Given the description of an element on the screen output the (x, y) to click on. 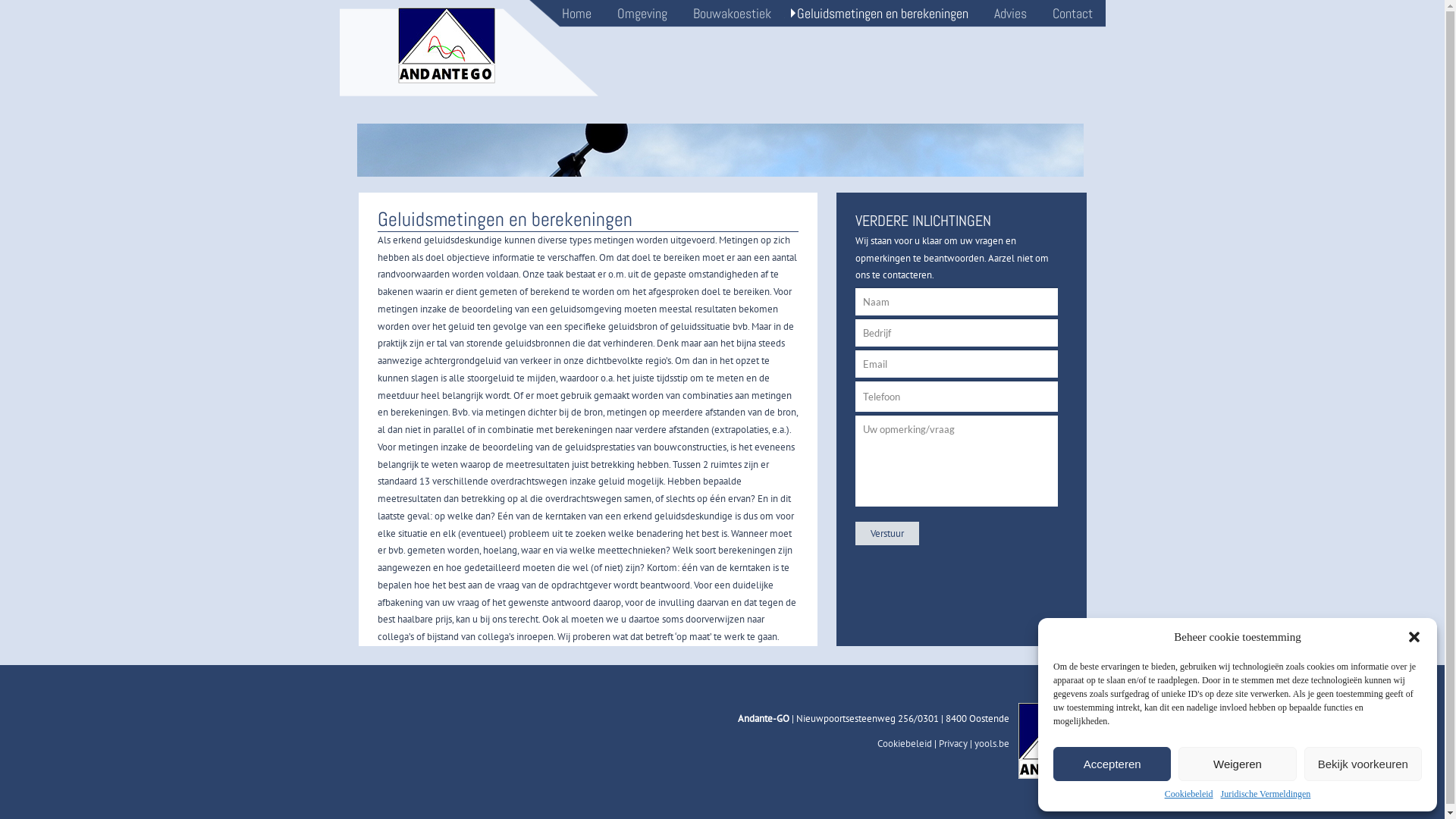
Cookiebeleid Element type: text (904, 743)
Accepteren Element type: text (1111, 763)
Weigeren Element type: text (1236, 763)
Verstuur Element type: text (887, 533)
yools.be Element type: text (991, 743)
Cookiebeleid Element type: text (1188, 794)
Privacy Element type: text (952, 743)
Omgeving Element type: text (641, 13)
Bouwakoestiek Element type: text (731, 13)
Home Element type: text (576, 13)
Bekijk voorkeuren Element type: text (1362, 763)
Geluidsmetingen en berekeningen Element type: text (882, 13)
Advies Element type: text (1010, 13)
Contact Element type: text (1071, 13)
Juridische Vermeldingen Element type: text (1265, 794)
